Given the description of an element on the screen output the (x, y) to click on. 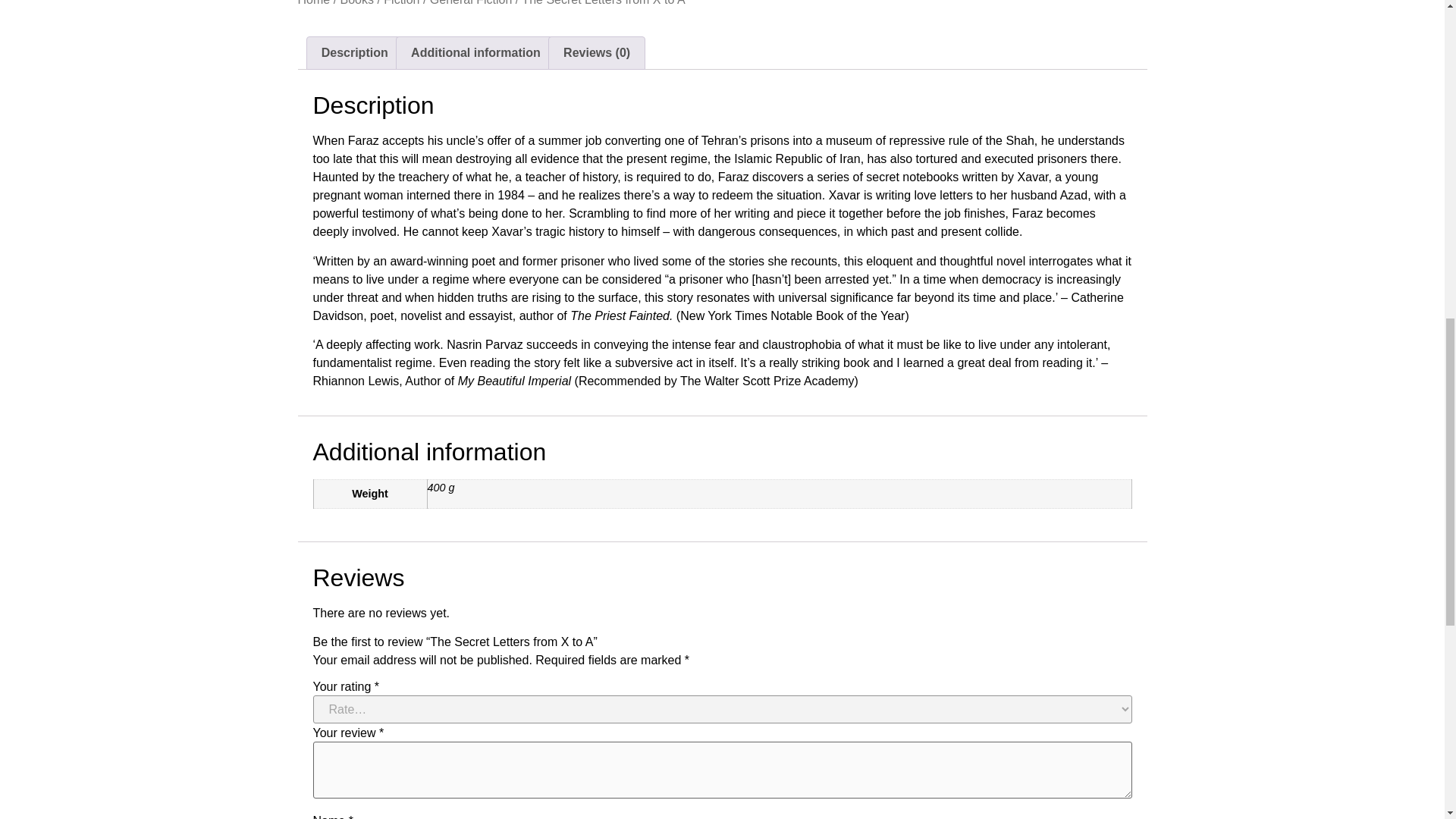
Additional information (475, 52)
General Fiction (470, 2)
Books (357, 2)
Fiction (401, 2)
Description (353, 52)
Home (313, 2)
